Given the description of an element on the screen output the (x, y) to click on. 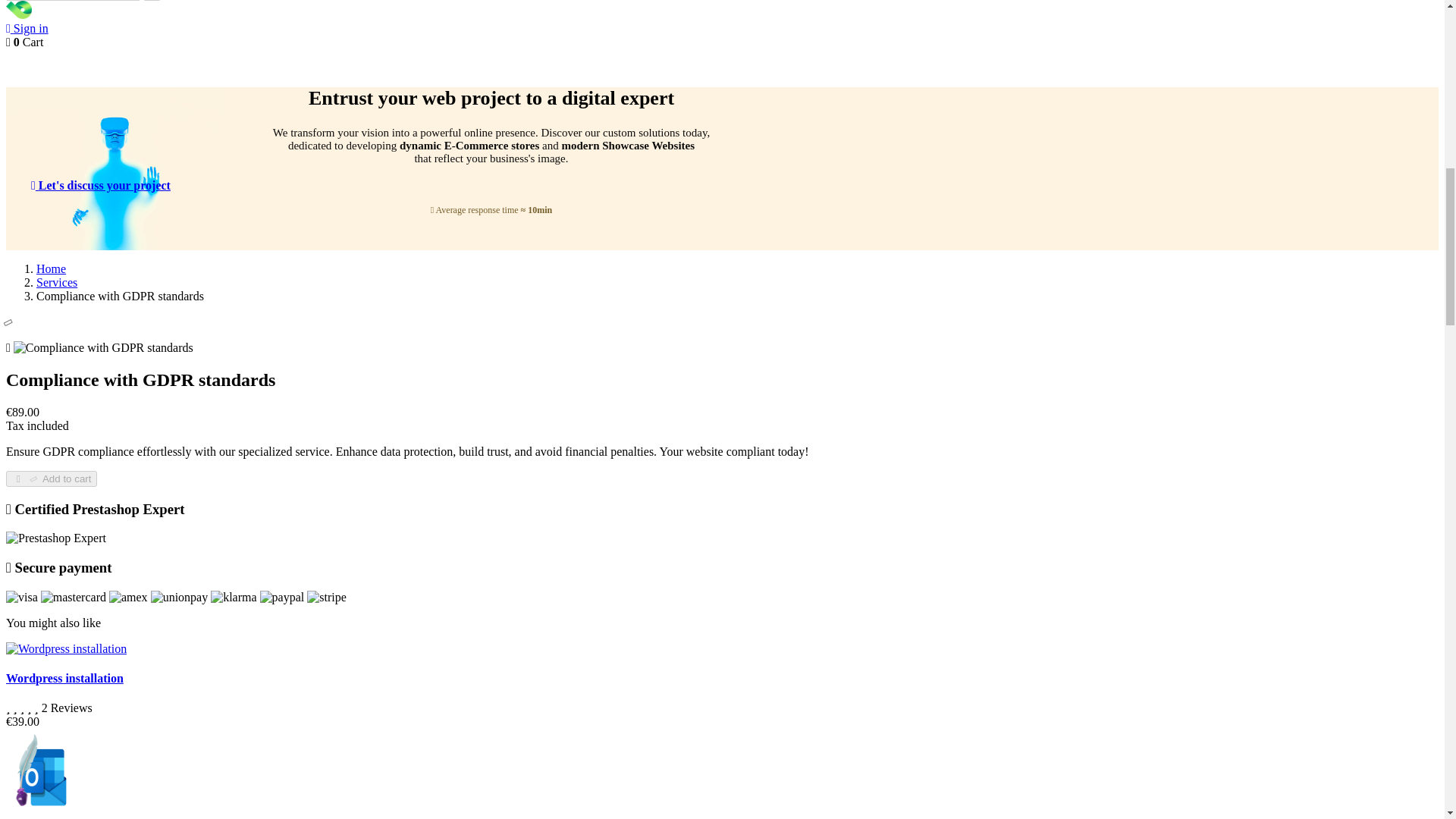
Add to cart (51, 478)
Sign in (26, 28)
Home (50, 268)
Services (56, 282)
Wordpress installation (64, 677)
Let's discuss your project (101, 185)
0 Cart (24, 42)
